Given the description of an element on the screen output the (x, y) to click on. 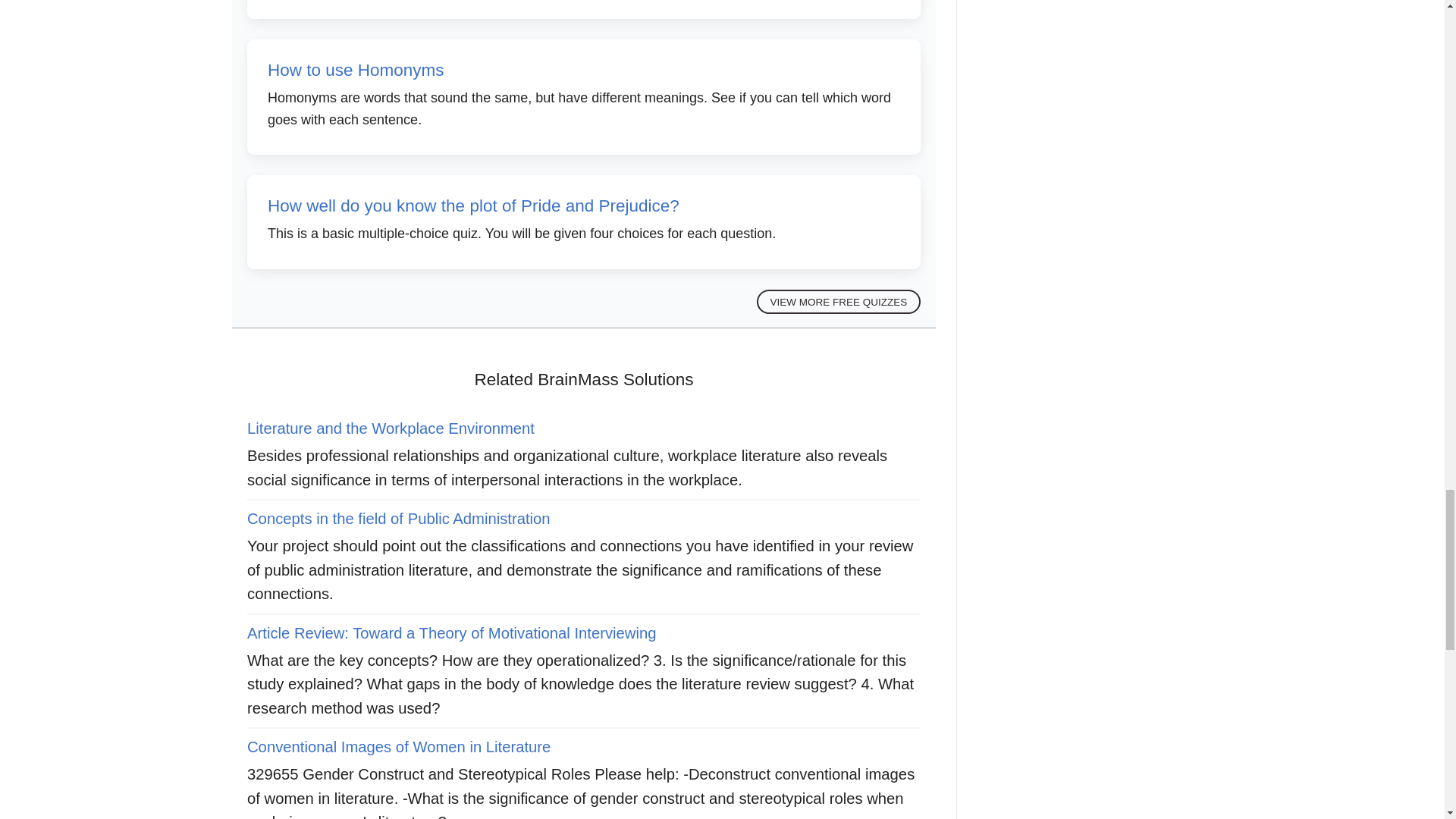
How to use Homonyms (355, 69)
How well do you know the plot of Pride and Prejudice? (473, 205)
Article Review: Toward a Theory of Motivational Interviewing (451, 632)
Literature and the Workplace Environment (390, 428)
Concepts in the field of Public Administration (398, 518)
VIEW MORE FREE QUIZZES (838, 301)
